Given the description of an element on the screen output the (x, y) to click on. 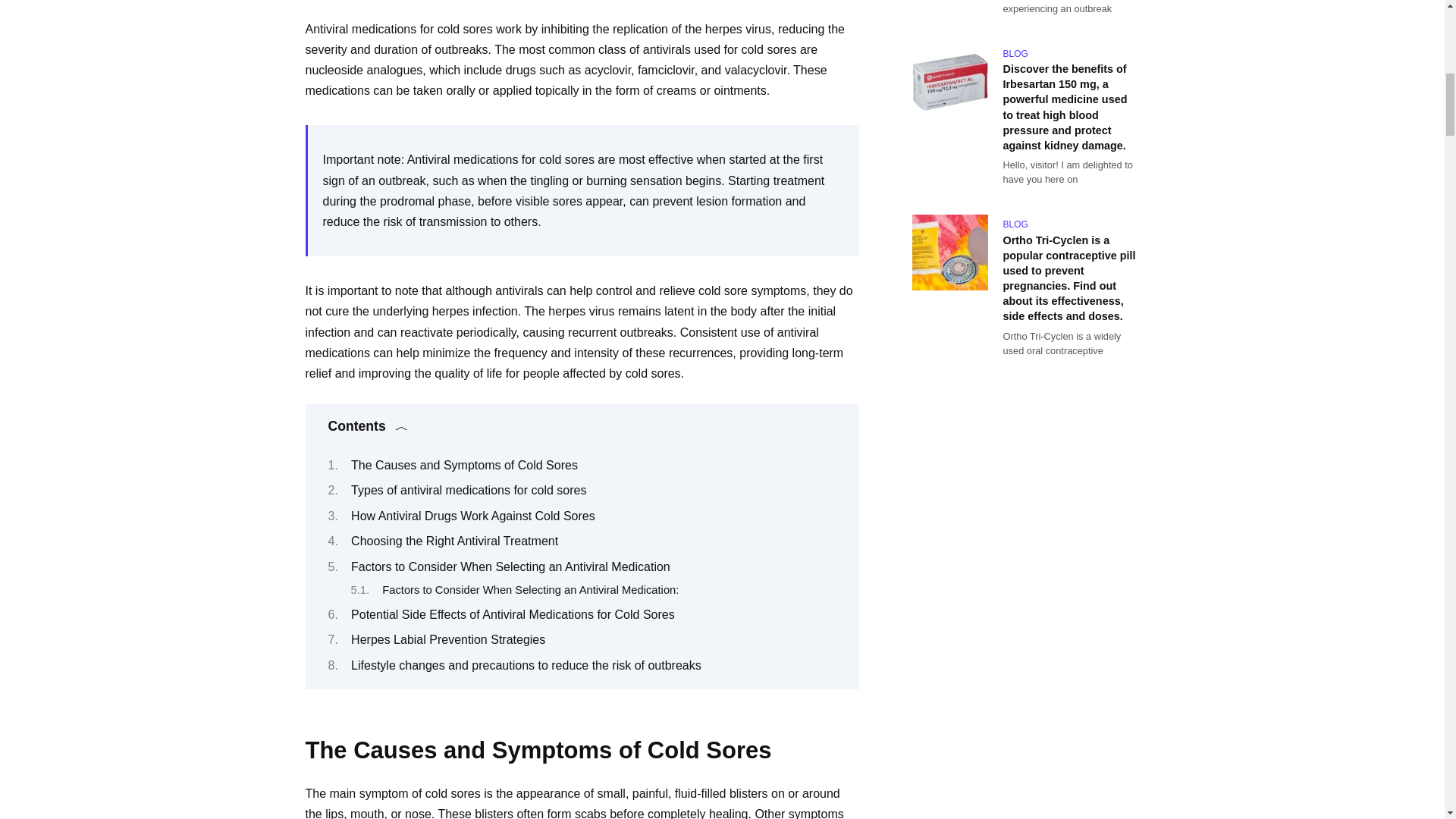
How Antiviral Drugs Work Against Cold Sores (472, 515)
Factors to Consider When Selecting an Antiviral Medication: (529, 589)
Factors to Consider When Selecting an Antiviral Medication (509, 566)
The Causes and Symptoms of Cold Sores (464, 464)
Herpes Labial Prevention Strategies (447, 639)
Types of antiviral medications for cold sores (468, 490)
Choosing the Right Antiviral Treatment (453, 540)
